Given the description of an element on the screen output the (x, y) to click on. 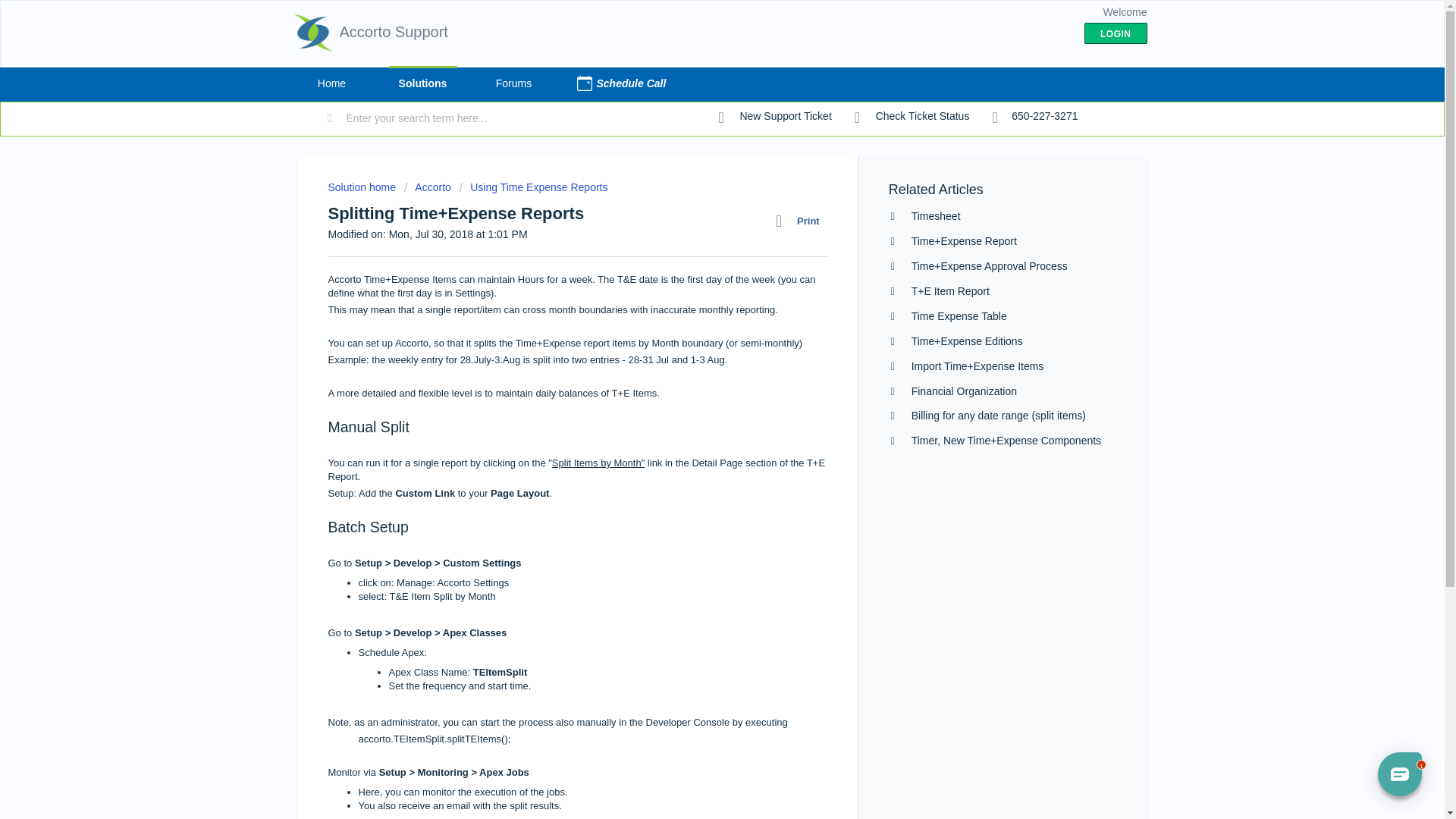
Solutions (422, 83)
Forums (513, 83)
650-227-3271 (1034, 117)
Check Ticket Status (911, 116)
Print (801, 220)
LOGIN (1115, 33)
daily balances (565, 392)
Check ticket status (911, 116)
Accorto (427, 186)
New Support Ticket (775, 116)
